Given the description of an element on the screen output the (x, y) to click on. 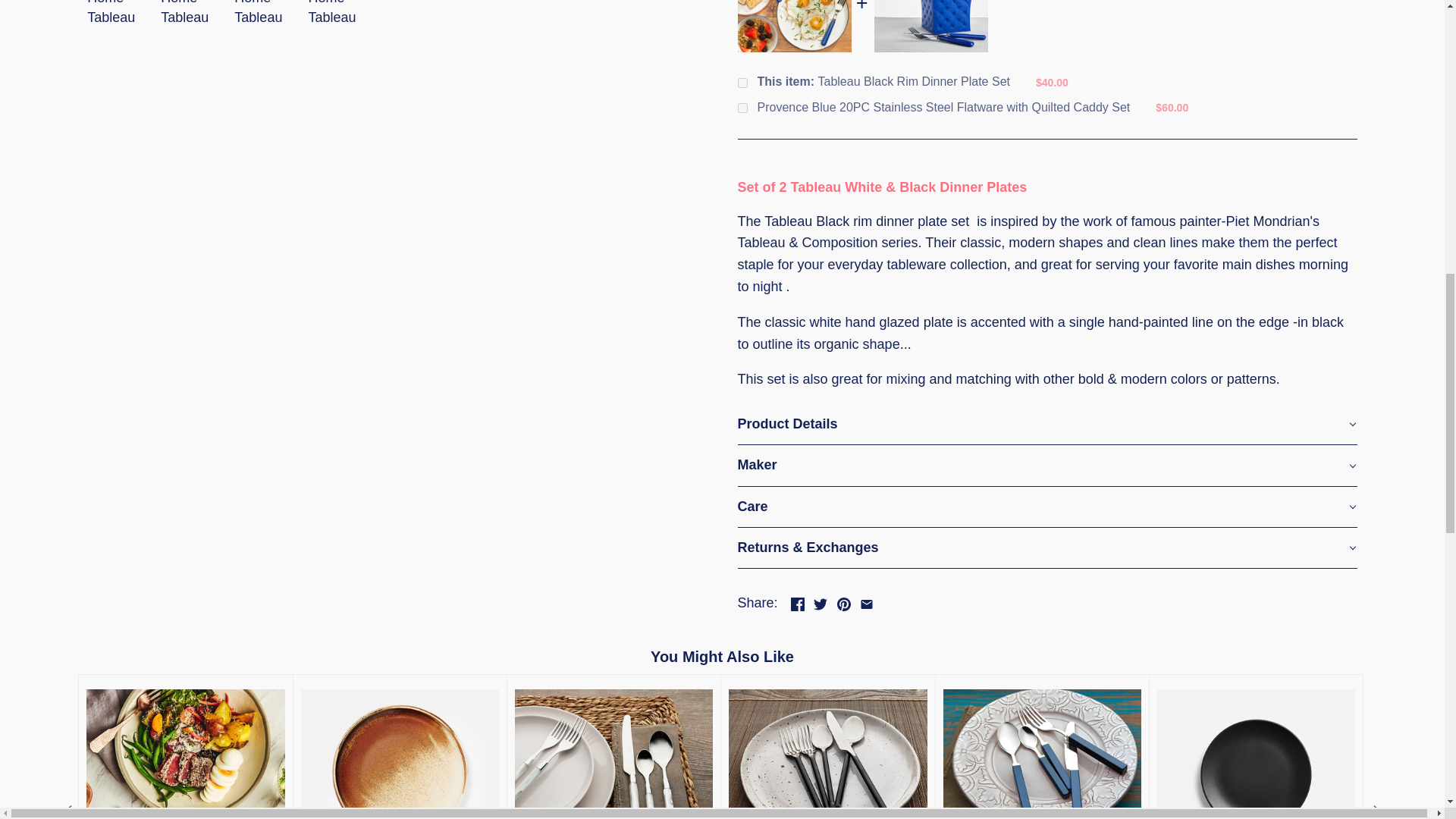
Email (866, 603)
4450337226817 (741, 82)
Share on Twitter (820, 601)
Facebook (797, 603)
Pinterest (843, 603)
Pin the main image (843, 601)
3881713631297 (741, 108)
Share on Facebook (797, 601)
Share using email (866, 601)
Twitter (820, 603)
